Given the description of an element on the screen output the (x, y) to click on. 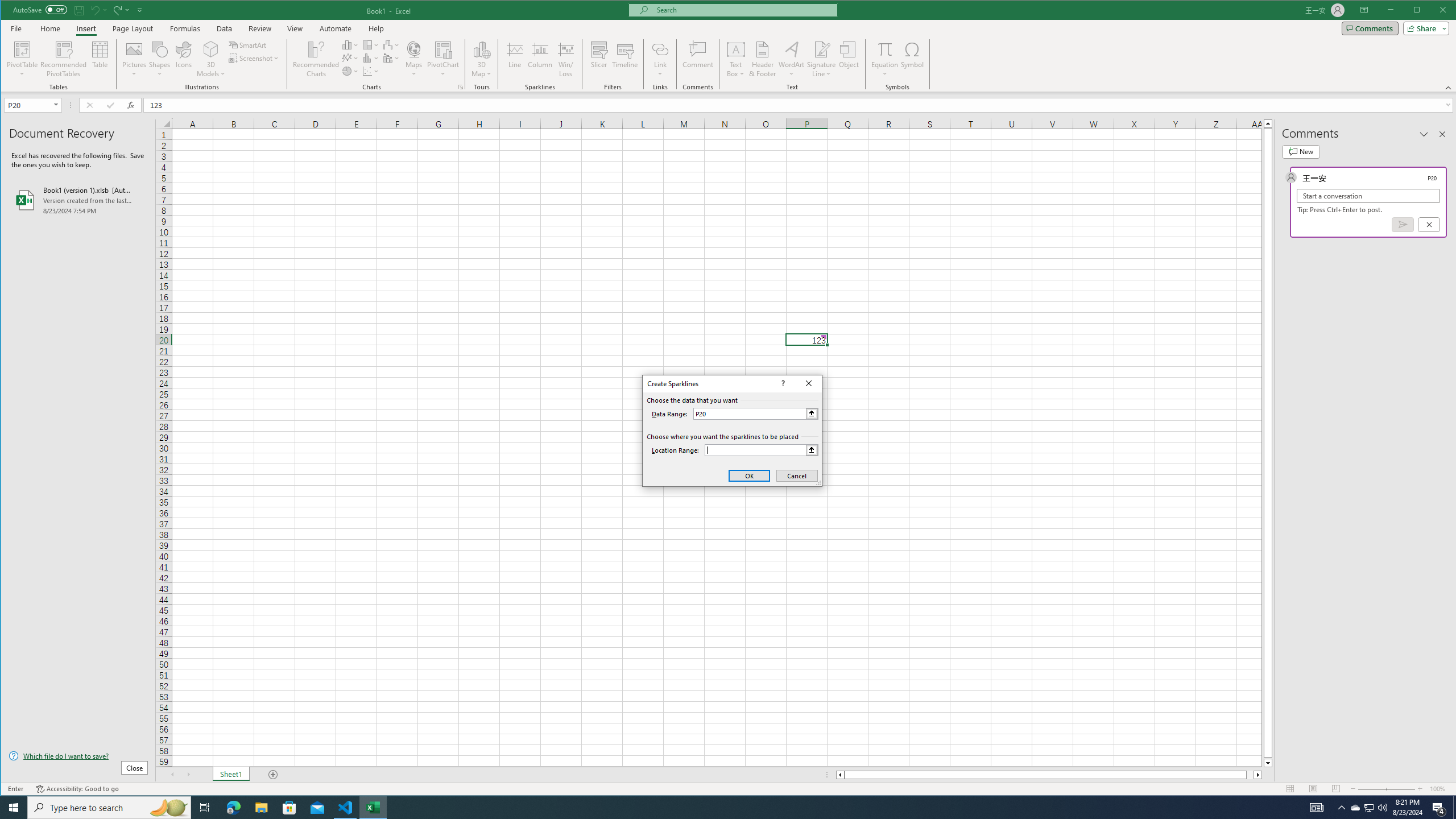
Insert Scatter (X, Y) or Bubble Chart (371, 70)
Insert Column or Bar Chart (350, 44)
Insert Statistic Chart (371, 57)
Maximize (1432, 11)
Signature Line (821, 59)
File Explorer (261, 807)
Search highlights icon opens search home window (167, 807)
Microsoft Store (289, 807)
